Given the description of an element on the screen output the (x, y) to click on. 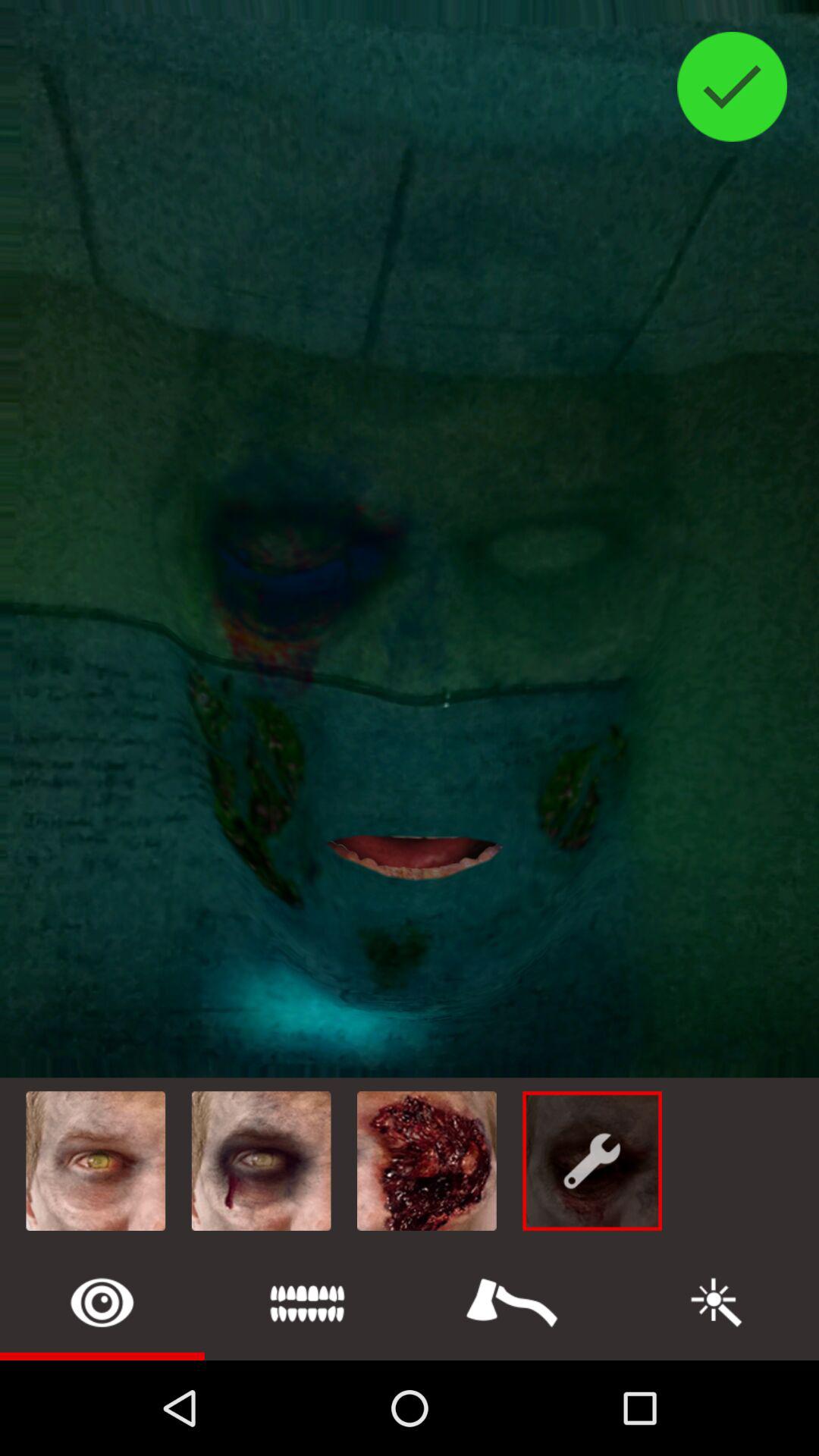
toggle eyes menu (102, 1302)
